Given the description of an element on the screen output the (x, y) to click on. 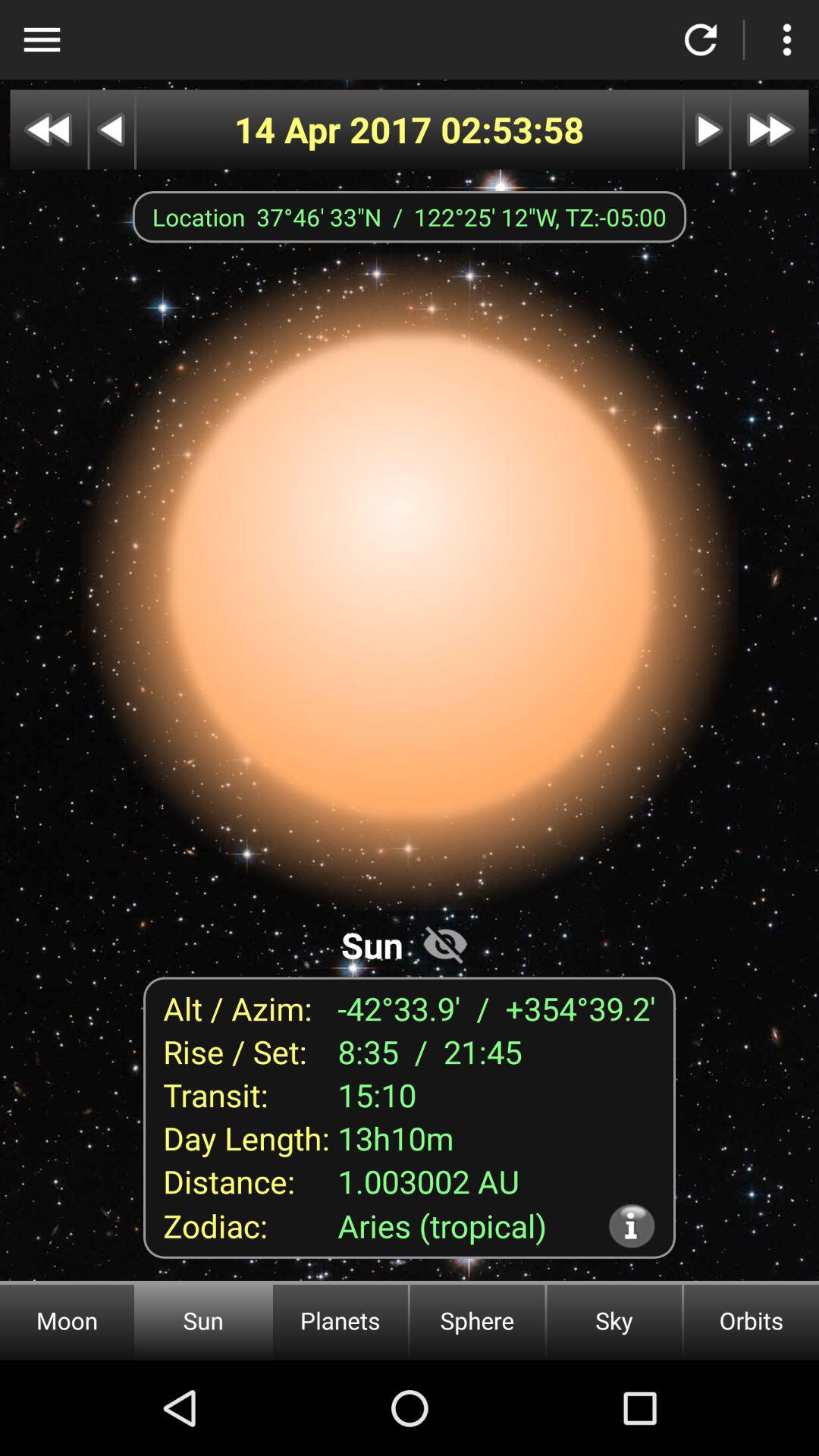
view settings (787, 39)
